Given the description of an element on the screen output the (x, y) to click on. 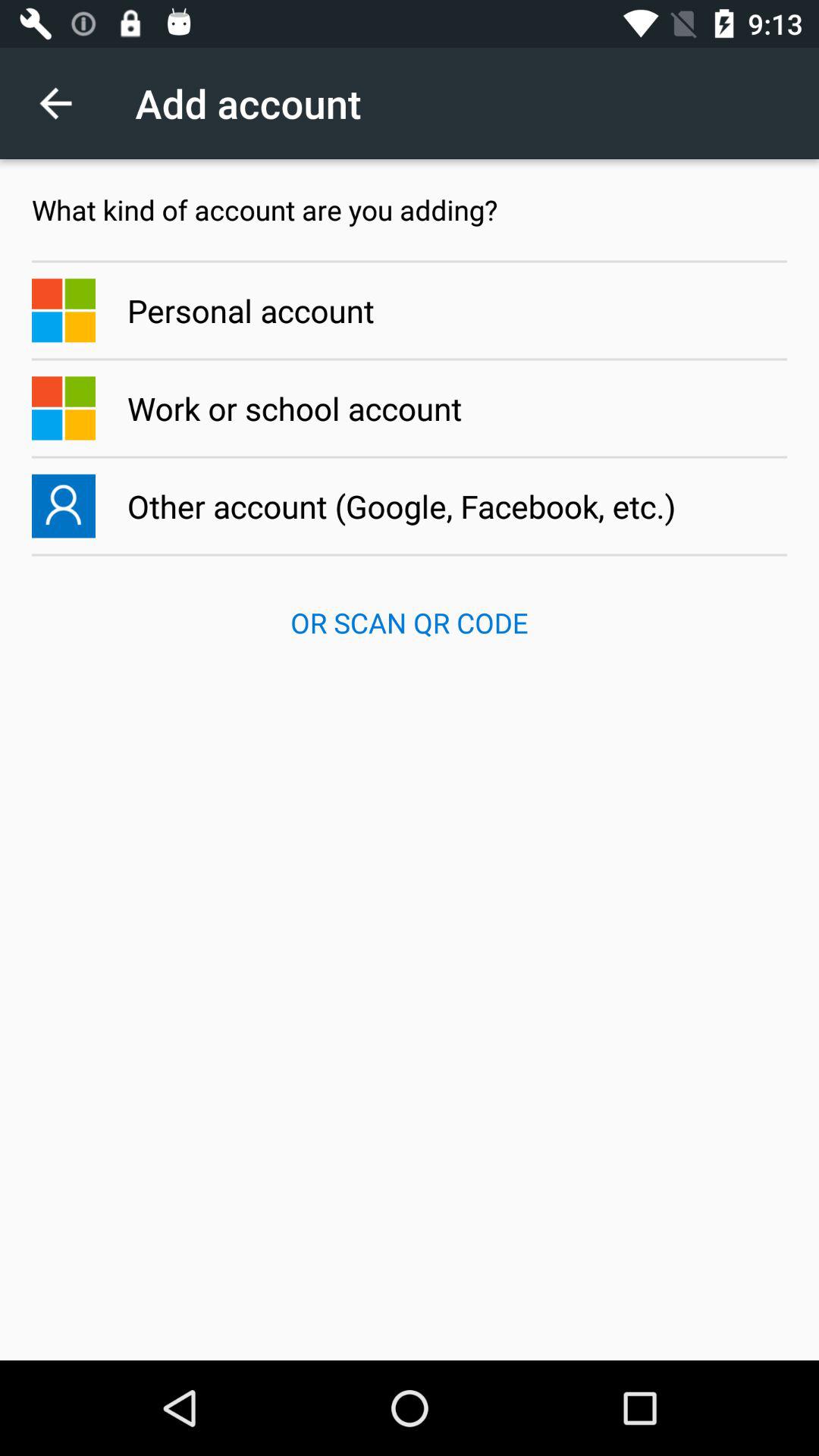
launch the other account google (409, 505)
